Given the description of an element on the screen output the (x, y) to click on. 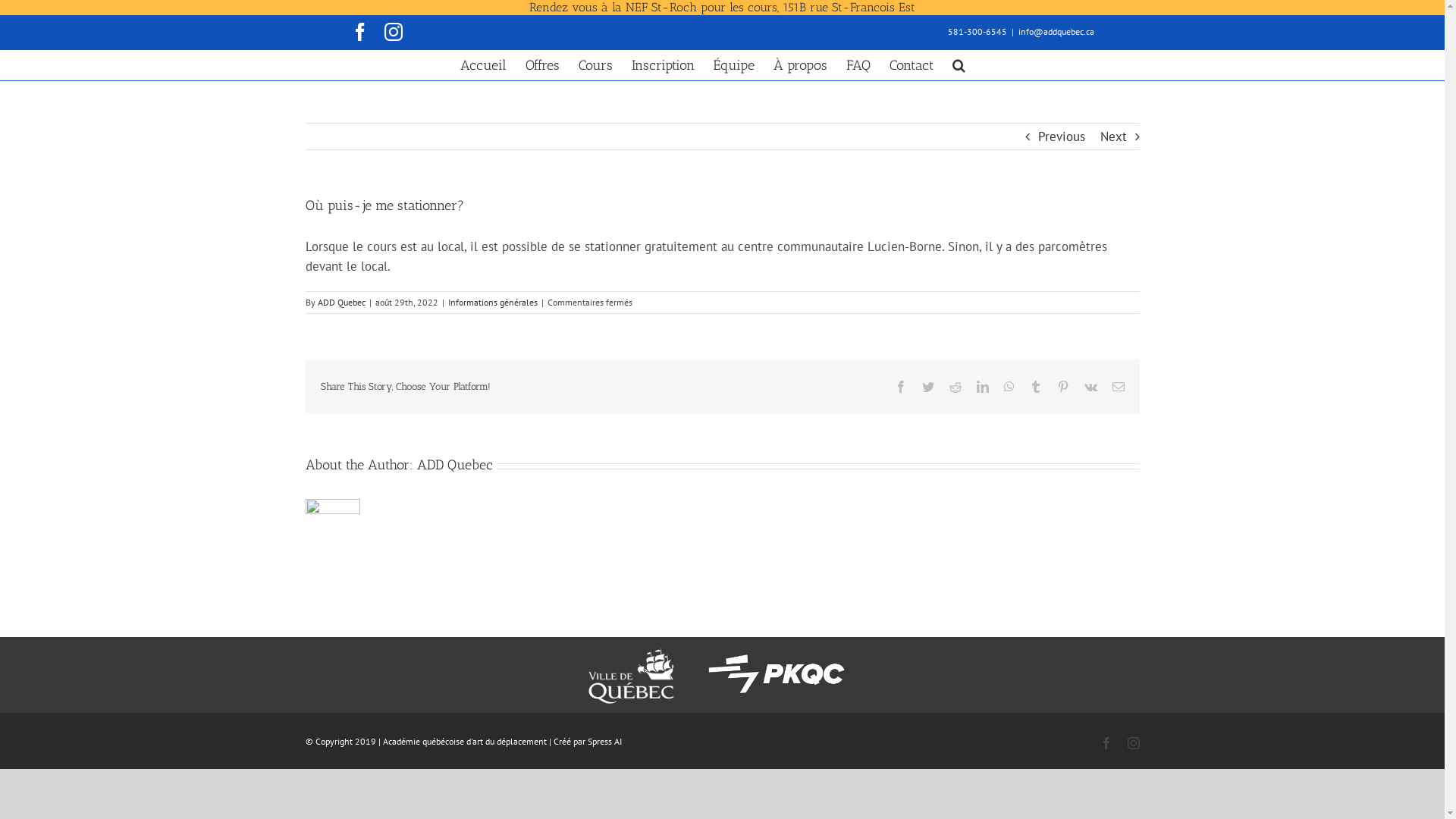
Reddit Element type: text (955, 386)
LinkedIn Element type: text (982, 386)
Spress AI Element type: text (603, 740)
Accueil Element type: text (483, 65)
Next Element type: text (1112, 136)
Previous Element type: text (1060, 136)
Tumblr Element type: text (1035, 386)
info@addquebec.ca Element type: text (1055, 31)
Inscription Element type: text (662, 65)
FAQ Element type: text (858, 65)
ADD Quebec Element type: text (454, 464)
Email Element type: text (1117, 386)
Search Element type: hover (958, 65)
ADD Quebec Element type: text (340, 301)
Twitter Element type: text (928, 386)
Vk Element type: text (1090, 386)
Instagram Element type: text (392, 31)
Facebook Element type: text (1105, 743)
Instagram Element type: text (1132, 743)
WhatsApp Element type: text (1009, 386)
Cours Element type: text (595, 65)
Contact Element type: text (911, 65)
Pinterest Element type: text (1063, 386)
Facebook Element type: text (900, 386)
Facebook Element type: text (359, 31)
Offres Element type: text (542, 65)
